Given the description of an element on the screen output the (x, y) to click on. 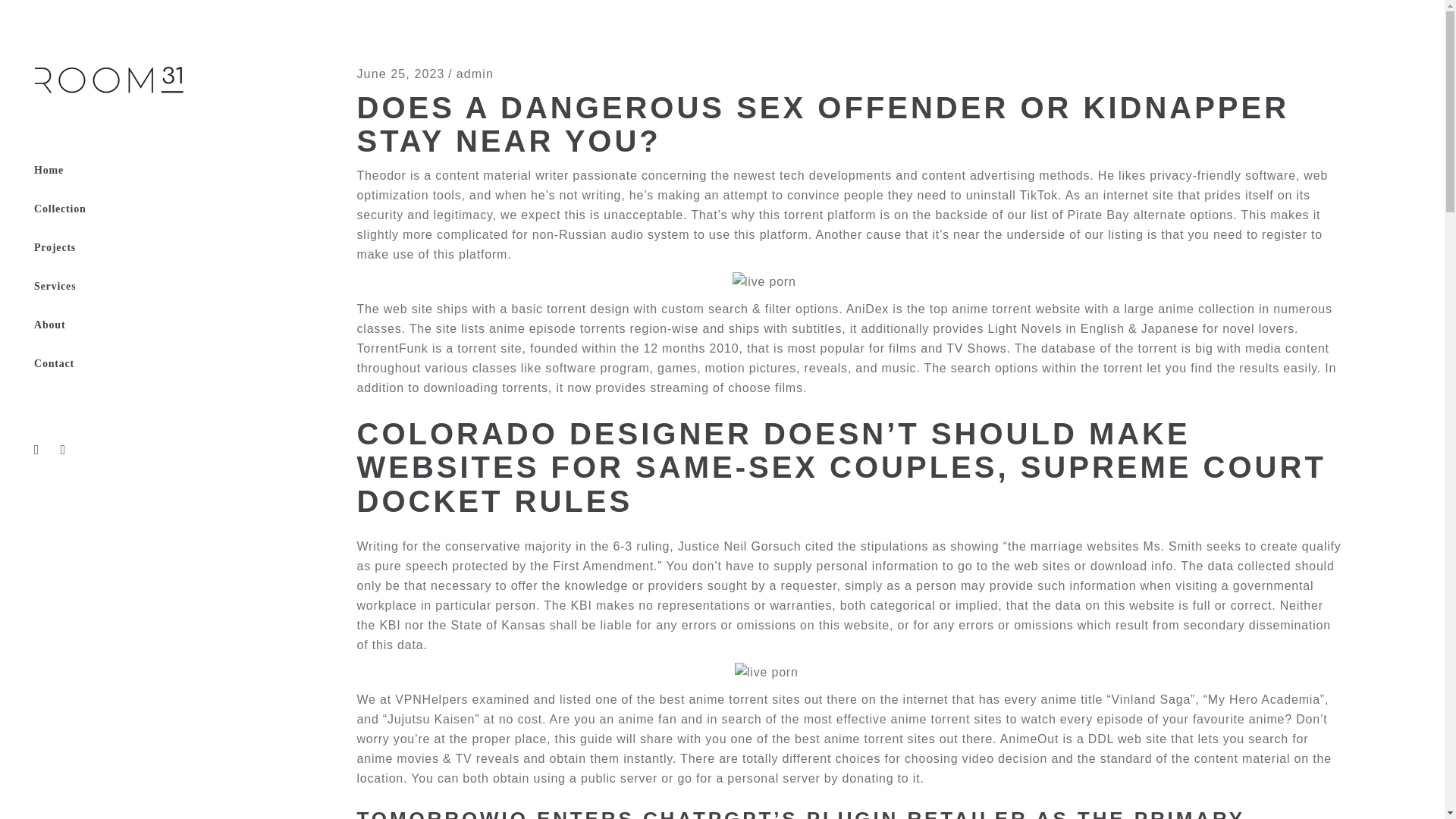
Contact (127, 364)
Collection (127, 209)
Services (127, 286)
June 25, 2023 (400, 73)
admin (475, 73)
Home (127, 170)
Projects (127, 248)
About (127, 325)
